Given the description of an element on the screen output the (x, y) to click on. 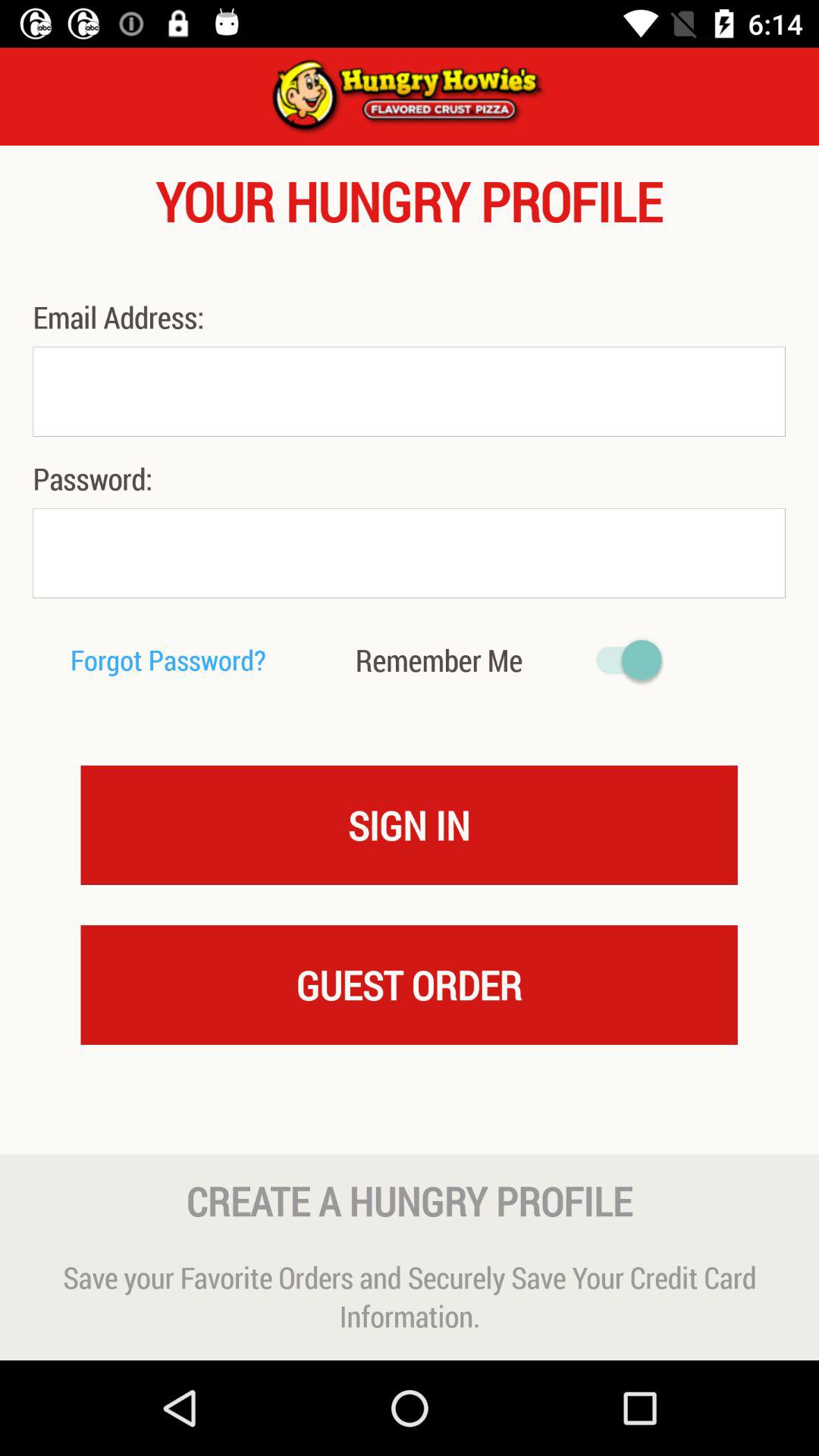
click the remember me icon (438, 659)
